Given the description of an element on the screen output the (x, y) to click on. 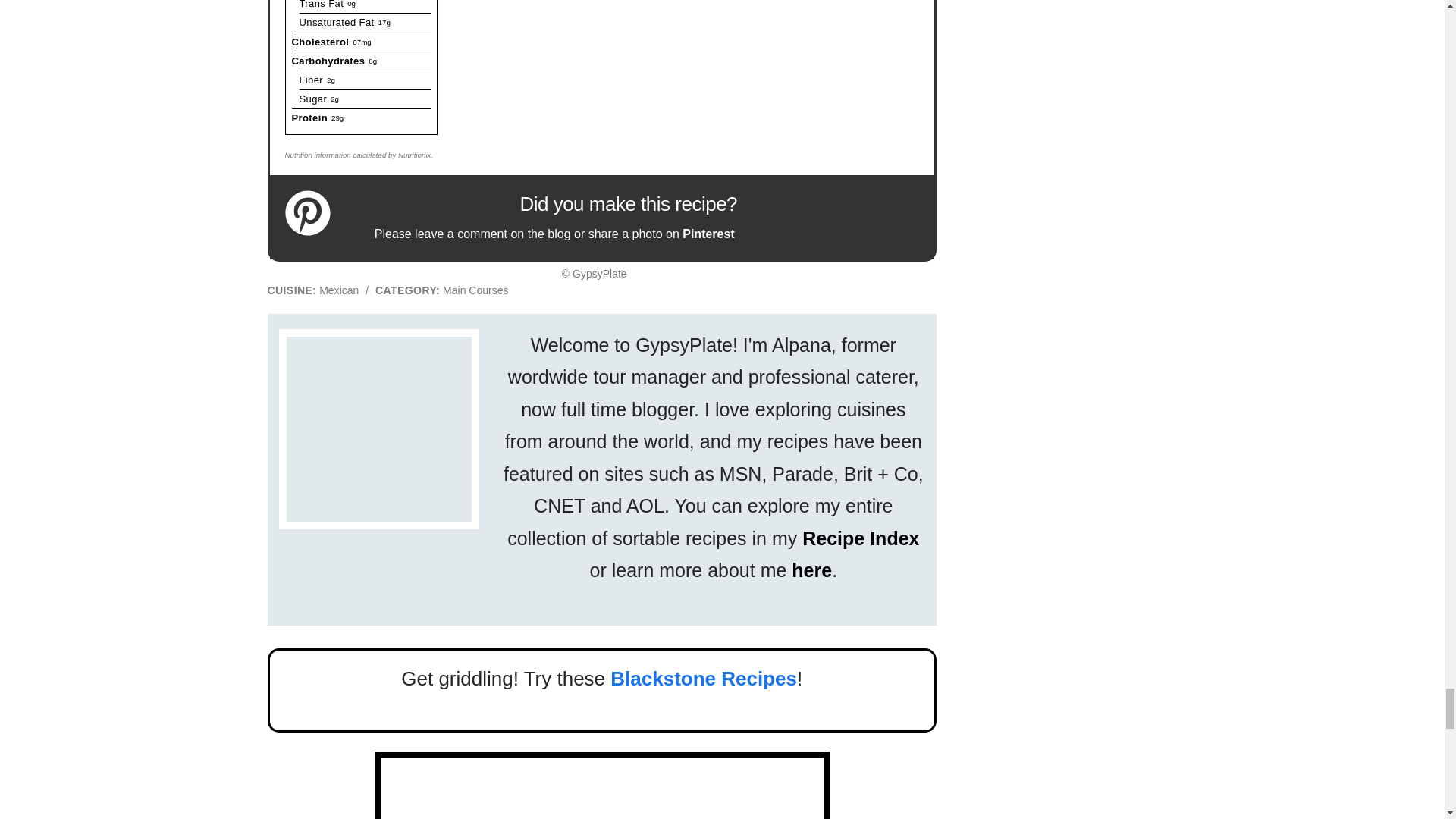
Pinterest (707, 233)
Recipe Index (860, 537)
here (811, 569)
Blackstone Recipes (703, 678)
